Given the description of an element on the screen output the (x, y) to click on. 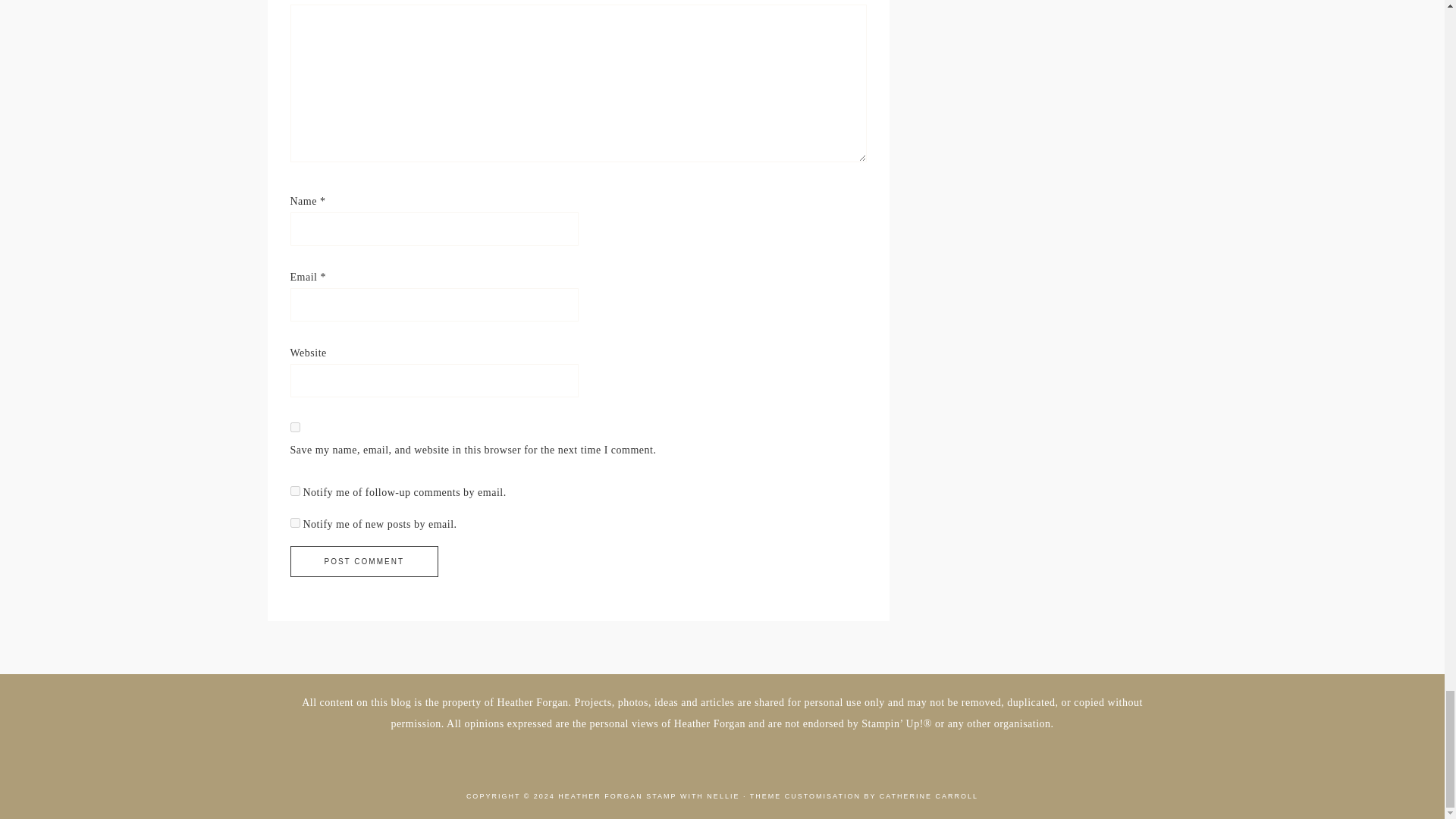
subscribe (294, 522)
Post Comment (363, 561)
subscribe (294, 491)
yes (294, 427)
